Given the description of an element on the screen output the (x, y) to click on. 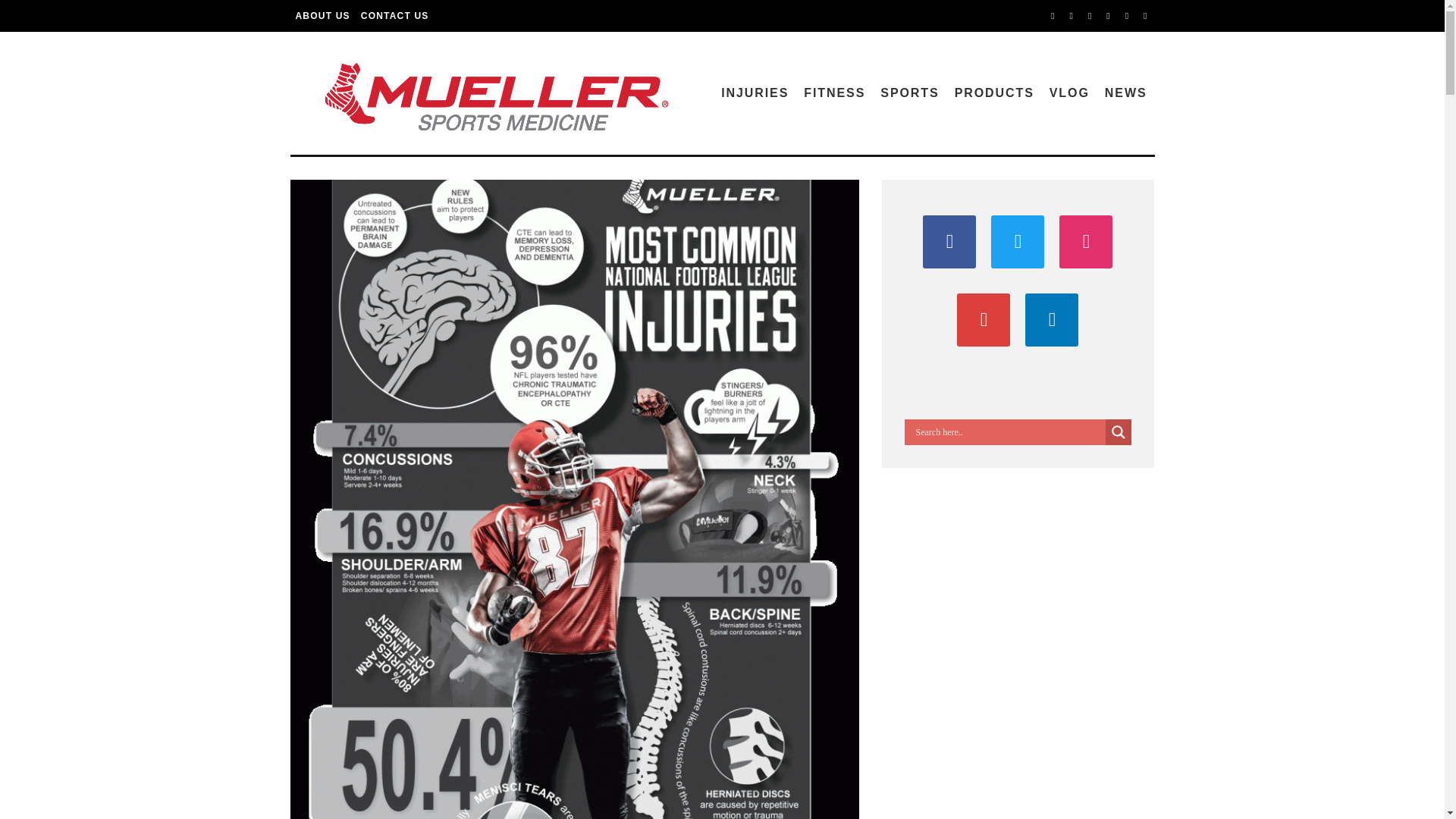
ABOUT US (322, 15)
INJURIES (754, 93)
FITNESS (834, 93)
SPORTS (909, 93)
CONTACT US (394, 15)
